Given the description of an element on the screen output the (x, y) to click on. 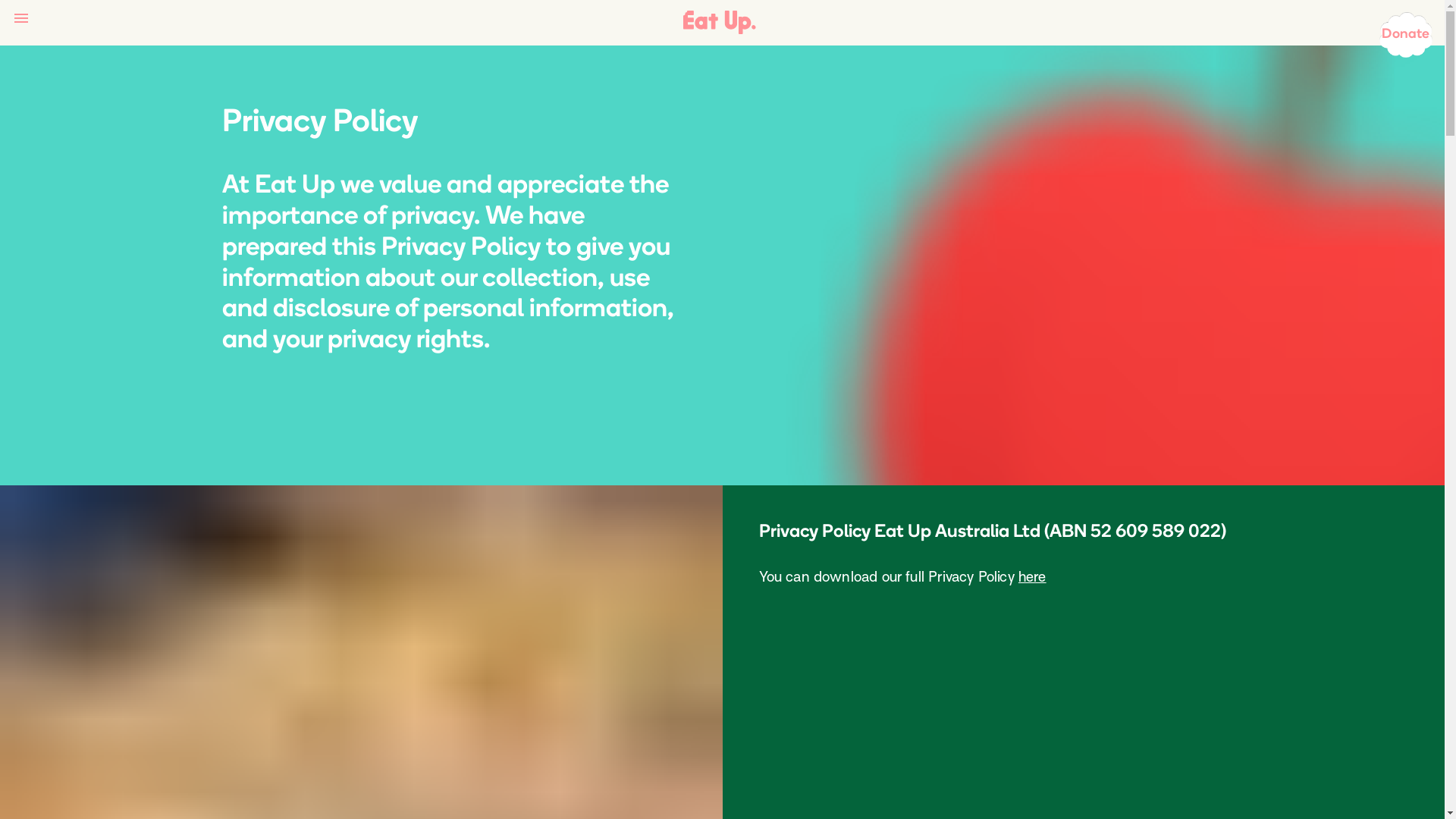
here Element type: text (1032, 576)
Donate Element type: text (1405, 34)
